Given the description of an element on the screen output the (x, y) to click on. 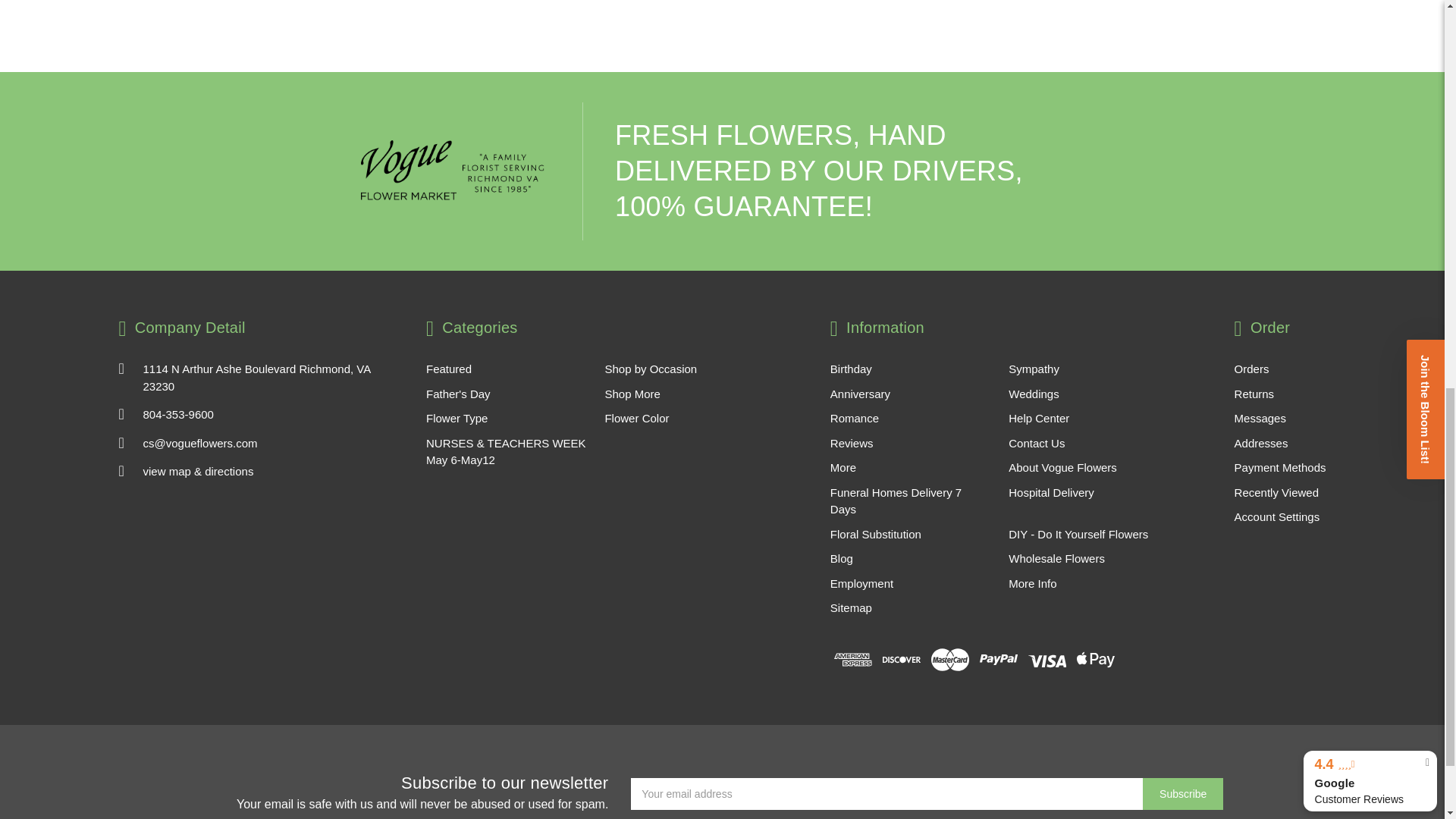
Subscribe (1182, 793)
